Given the description of an element on the screen output the (x, y) to click on. 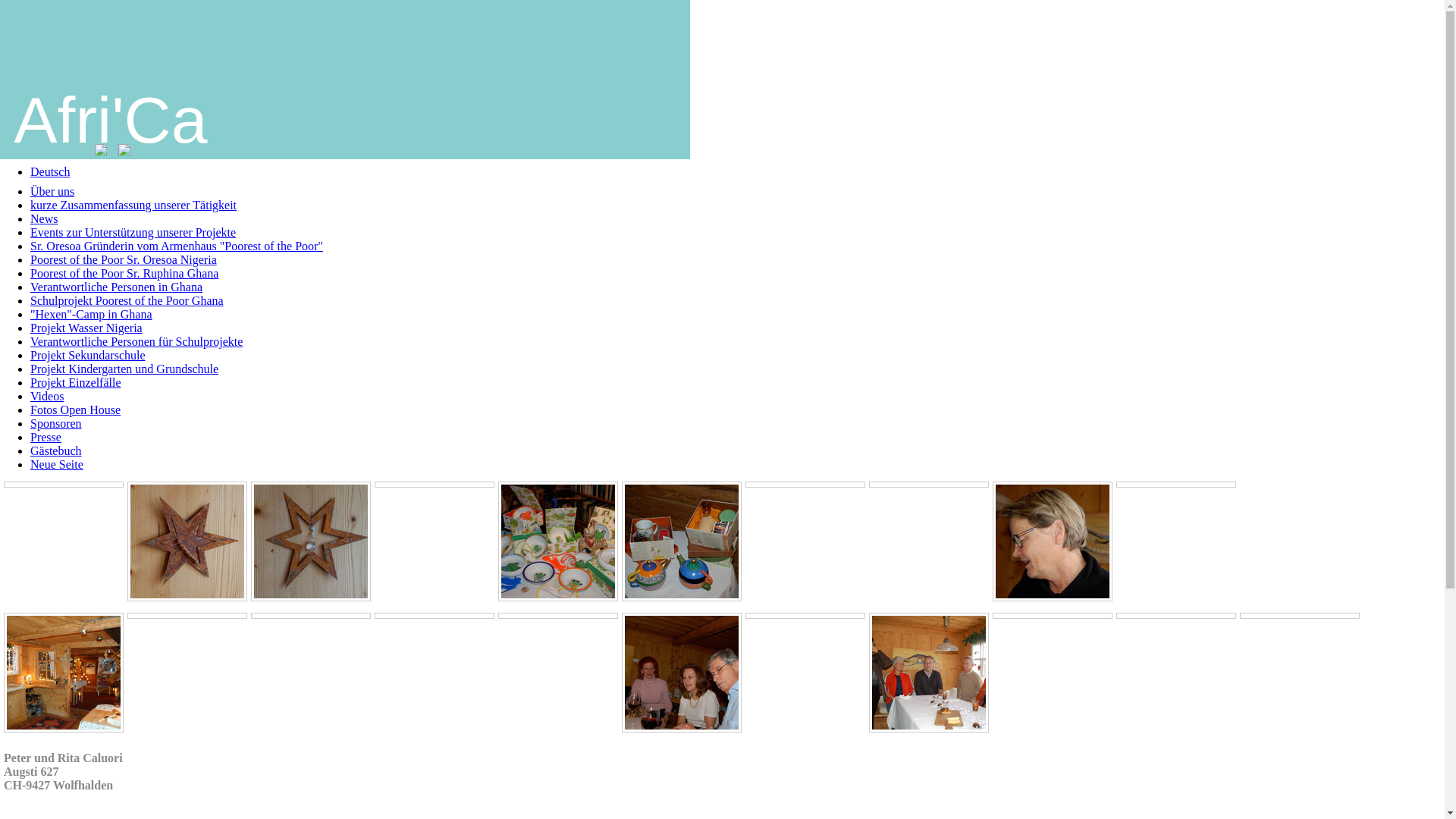
Poorest of the Poor Sr. Ruphina Ghana Element type: text (124, 272)
Sponsoren Element type: text (55, 423)
Schulprojekt Poorest of the Poor Ghana Element type: text (126, 300)
Deutsch Element type: text (49, 171)
"Hexen"-Camp in Ghana Element type: text (91, 313)
Projekt Sekundarschule Element type: text (87, 354)
Poorest of the Poor Sr. Oresoa Nigeria Element type: text (123, 259)
Verantwortliche Personen in Ghana Element type: text (116, 286)
Fotos Open House Element type: text (75, 409)
Neue Seite Element type: text (56, 464)
Projekt Kindergarten und Grundschule Element type: text (124, 368)
Presse Element type: text (45, 436)
News Element type: text (43, 218)
Videos Element type: text (46, 395)
Projekt Wasser Nigeria Element type: text (86, 327)
